Given the description of an element on the screen output the (x, y) to click on. 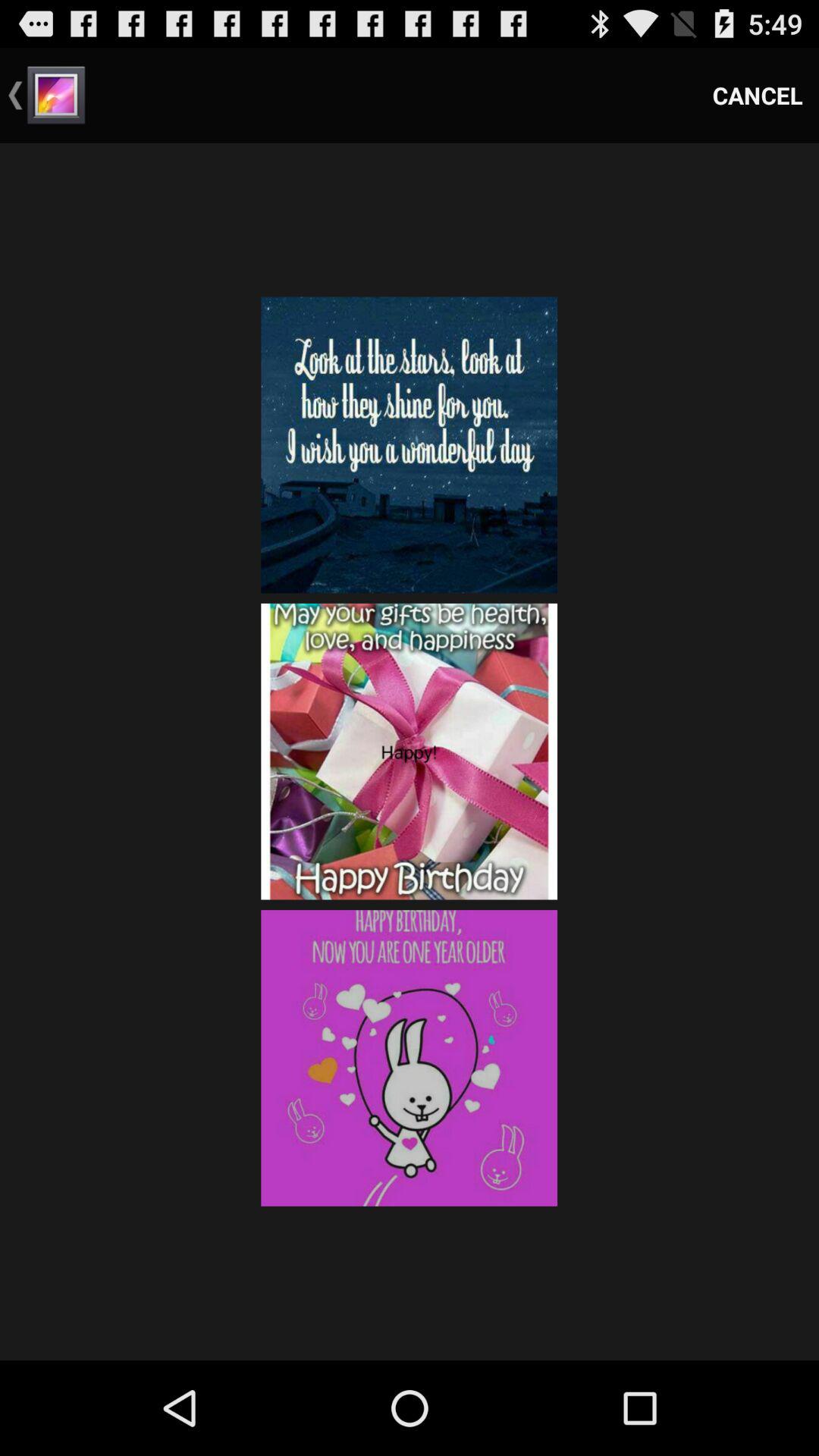
tap the icon at the top right corner (757, 95)
